Given the description of an element on the screen output the (x, y) to click on. 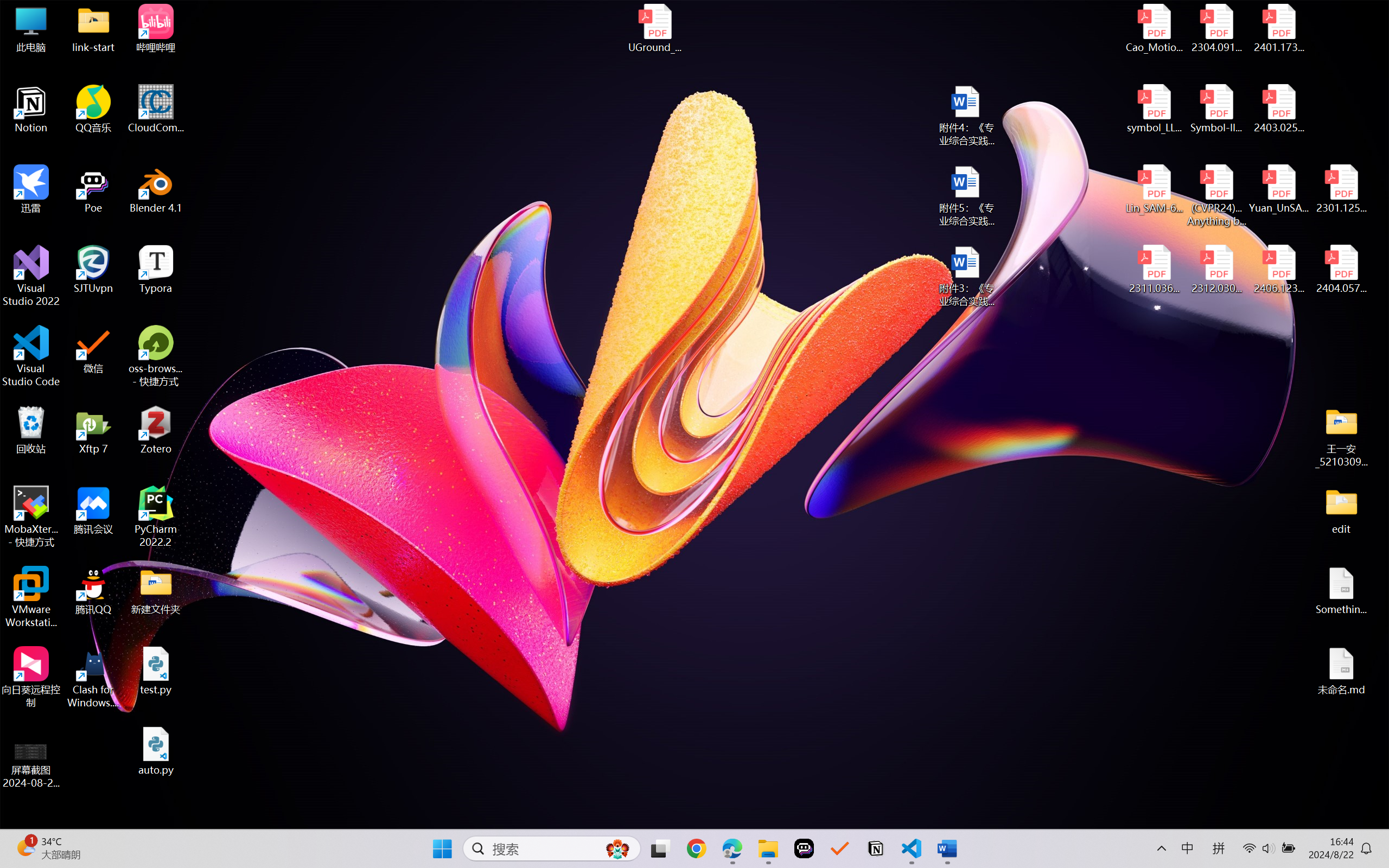
Visual Studio Code (31, 355)
(CVPR24)Matching Anything by Segmenting Anything.pdf (1216, 195)
2401.17399v1.pdf (1278, 28)
2406.12373v2.pdf (1278, 269)
Google Chrome (696, 848)
